Given the description of an element on the screen output the (x, y) to click on. 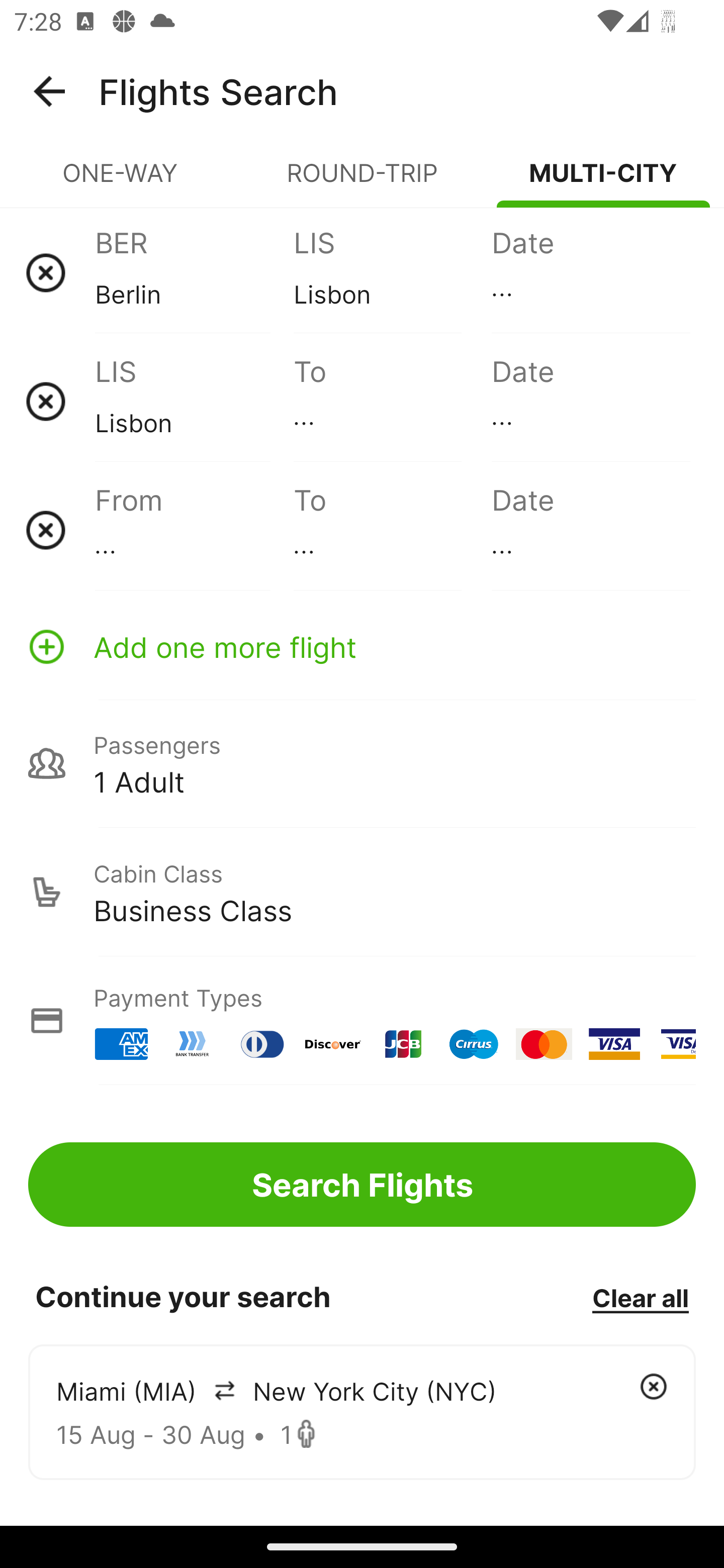
ONE-WAY (120, 180)
ROUND-TRIP (361, 180)
MULTI-CITY (603, 180)
BER Berlin (193, 272)
LIS Lisbon (392, 272)
Date ⋯ (590, 272)
LIS Lisbon (193, 401)
To ⋯ (392, 401)
Date ⋯ (590, 401)
From ⋯ (193, 529)
To ⋯ (392, 529)
Date ⋯ (590, 529)
Add one more flight (362, 646)
Passengers 1 Adult (362, 762)
Cabin Class Business Class (362, 891)
Payment Types (362, 1020)
Search Flights (361, 1184)
Clear all (640, 1297)
